Given the description of an element on the screen output the (x, y) to click on. 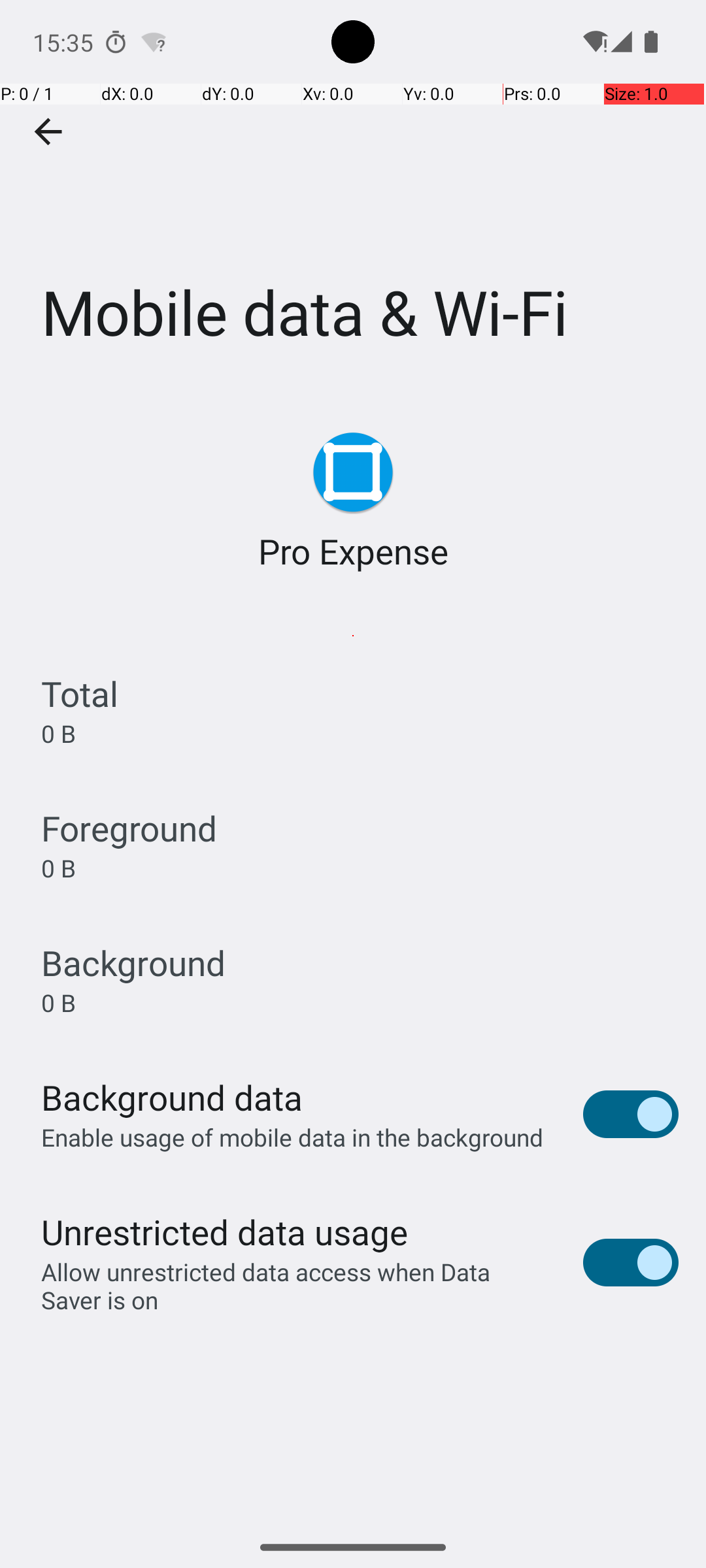
Mobile data & Wi‑Fi Element type: android.widget.FrameLayout (353, 195)
Total Element type: android.widget.TextView (79, 693)
0 B Element type: android.widget.TextView (58, 733)
Foreground Element type: android.widget.TextView (129, 827)
Background Element type: android.widget.TextView (133, 962)
Background data Element type: android.widget.TextView (171, 1097)
Enable usage of mobile data in the background Element type: android.widget.TextView (292, 1136)
Unrestricted data usage Element type: android.widget.TextView (224, 1231)
Allow unrestricted data access when Data Saver is on Element type: android.widget.TextView (298, 1285)
